Given the description of an element on the screen output the (x, y) to click on. 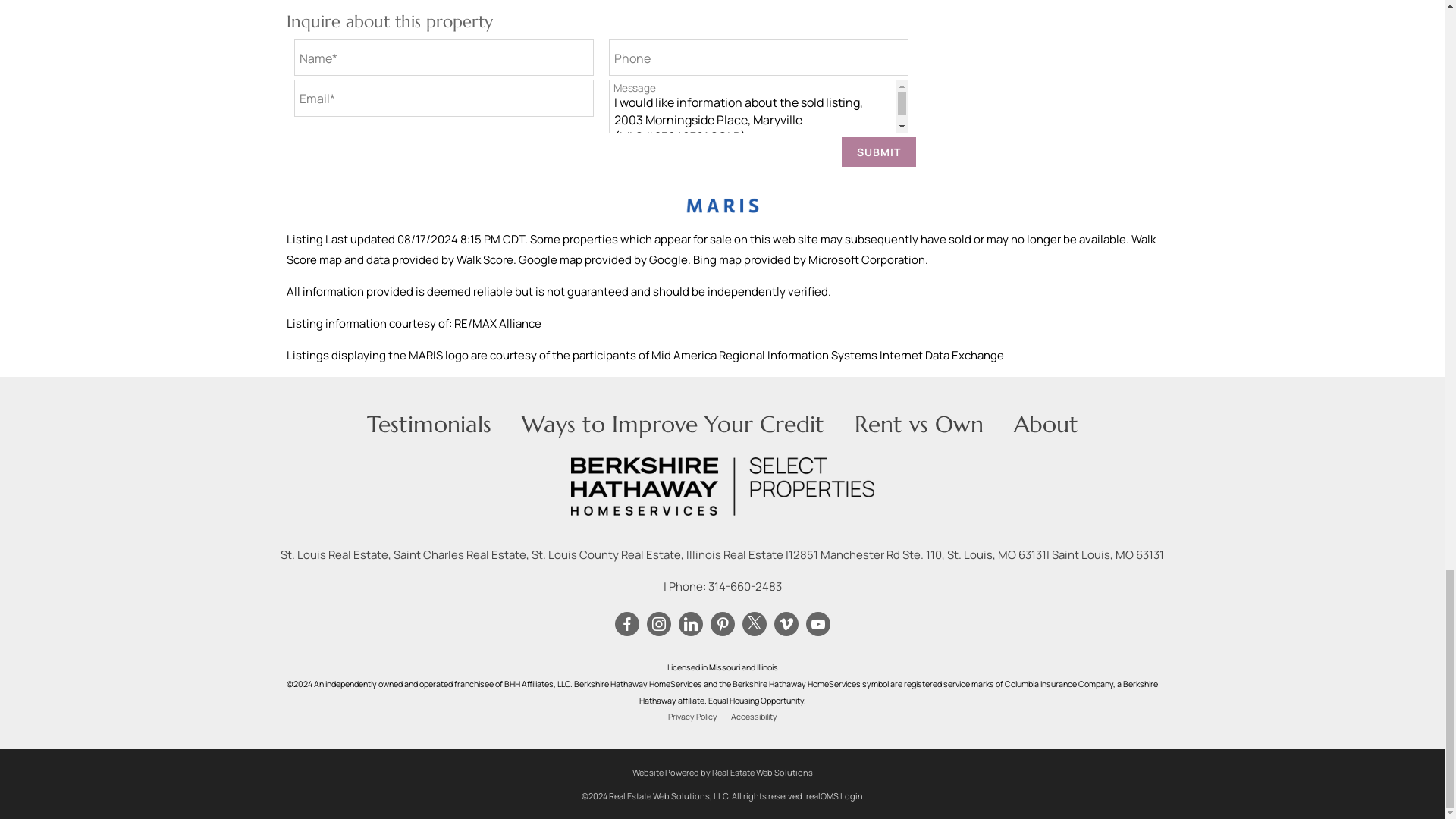
Visit me on Vimeo (785, 623)
Visit me on LinkedIn (690, 623)
Rent vs Own (917, 424)
Visit me on YouTube (817, 623)
Visit me on Pinterest (722, 623)
About (1045, 424)
Visit me on Instagram (658, 623)
Testimonials (429, 424)
Ways to Improve Your Credit (672, 424)
Visit me on Facebook (626, 623)
